Given the description of an element on the screen output the (x, y) to click on. 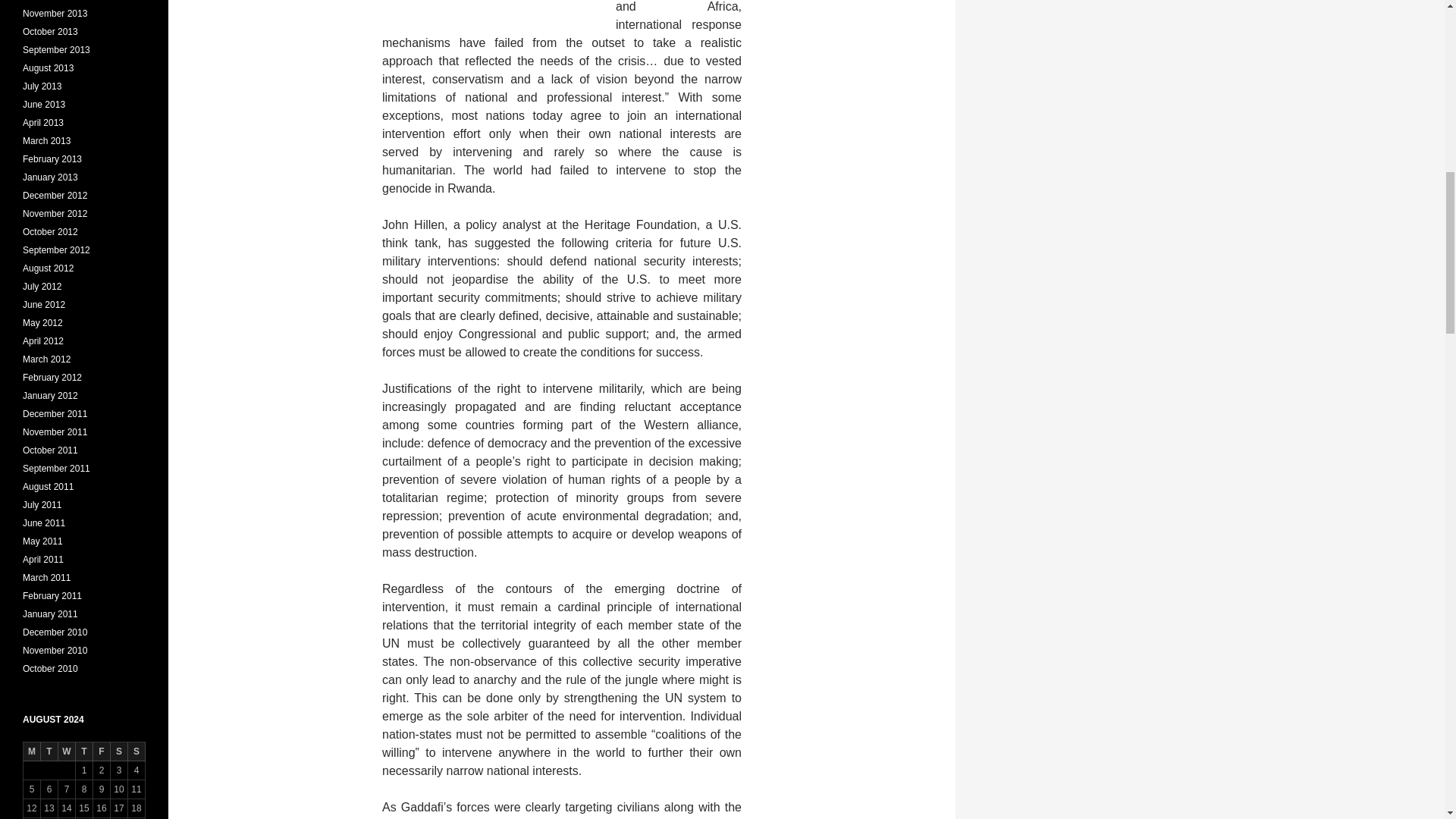
Wednesday (66, 751)
Tuesday (49, 751)
Friday (101, 751)
Monday (31, 751)
Saturday (119, 751)
Thursday (84, 751)
Sunday (136, 751)
